Given the description of an element on the screen output the (x, y) to click on. 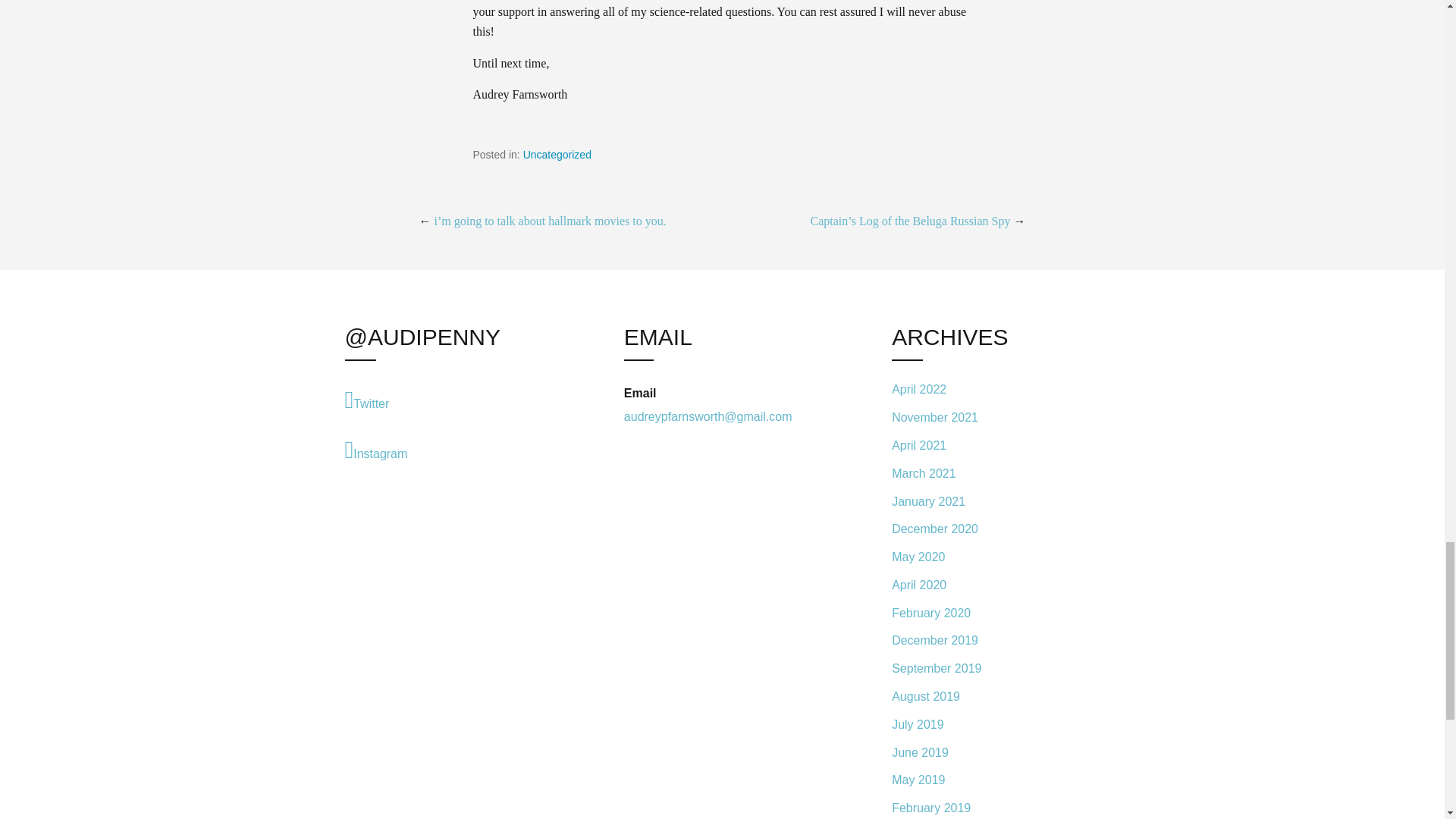
Visit audrey farnsworth on Instagram (447, 449)
Twitter (447, 401)
May 2019 (995, 780)
February 2019 (995, 806)
January 2021 (995, 501)
June 2019 (995, 752)
April 2021 (995, 445)
November 2021 (995, 418)
August 2019 (995, 696)
Visit audrey farnsworth on Twitter (447, 401)
December 2019 (995, 641)
December 2020 (995, 529)
March 2021 (995, 473)
April 2020 (995, 584)
May 2020 (995, 557)
